Given the description of an element on the screen output the (x, y) to click on. 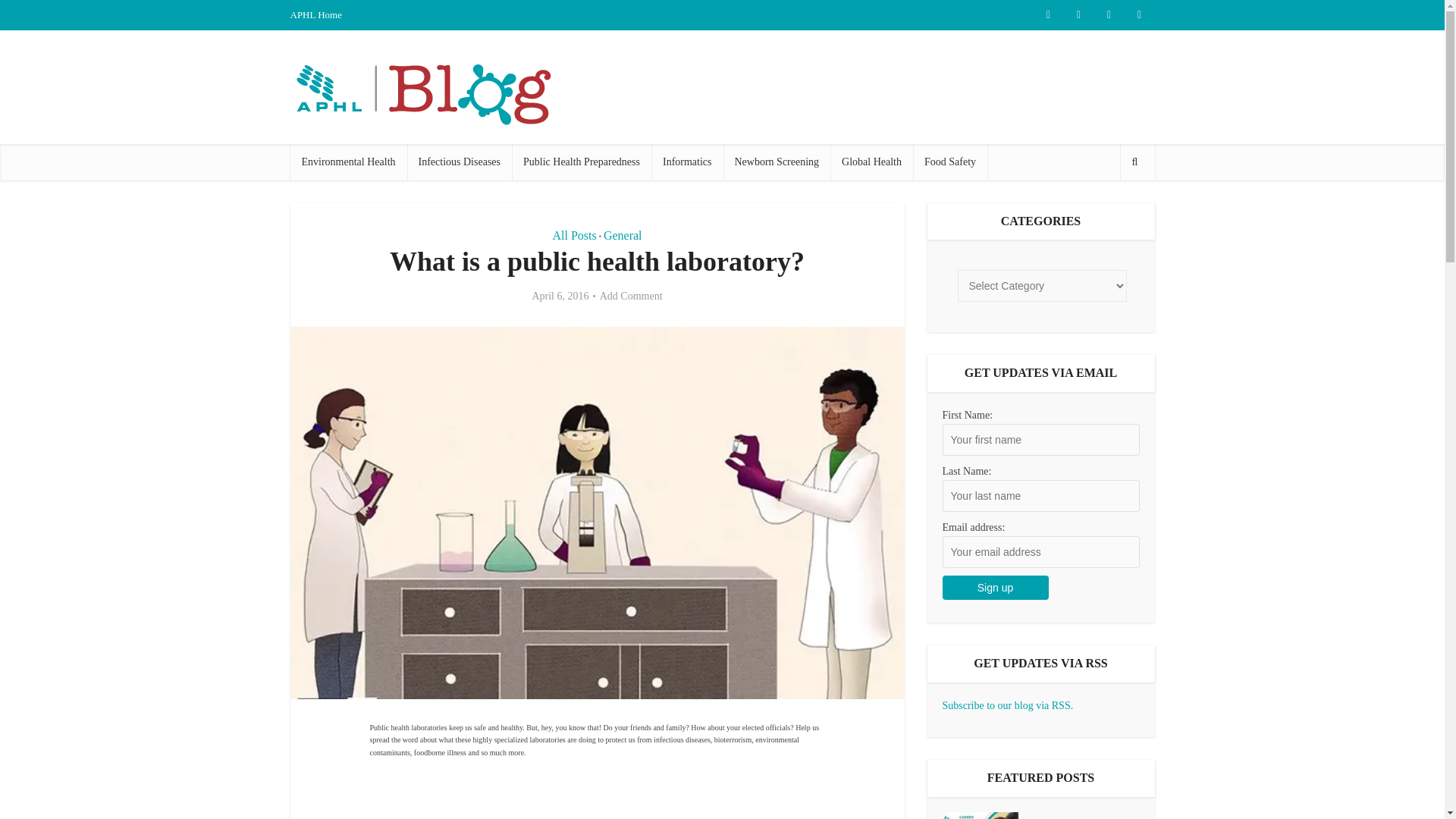
read our latest tweets (1047, 15)
All Posts (573, 235)
Food Safety (949, 162)
Public Health Preparedness (581, 162)
check us out on instagram (1108, 15)
Informatics (686, 162)
Add Comment (630, 296)
General (623, 235)
Environmental Health (347, 162)
APHL Home (315, 14)
Newborn Screening (777, 162)
visit us on facebook (1077, 15)
Sign up (995, 587)
Infectious Diseases (459, 162)
Global Health (870, 162)
